Given the description of an element on the screen output the (x, y) to click on. 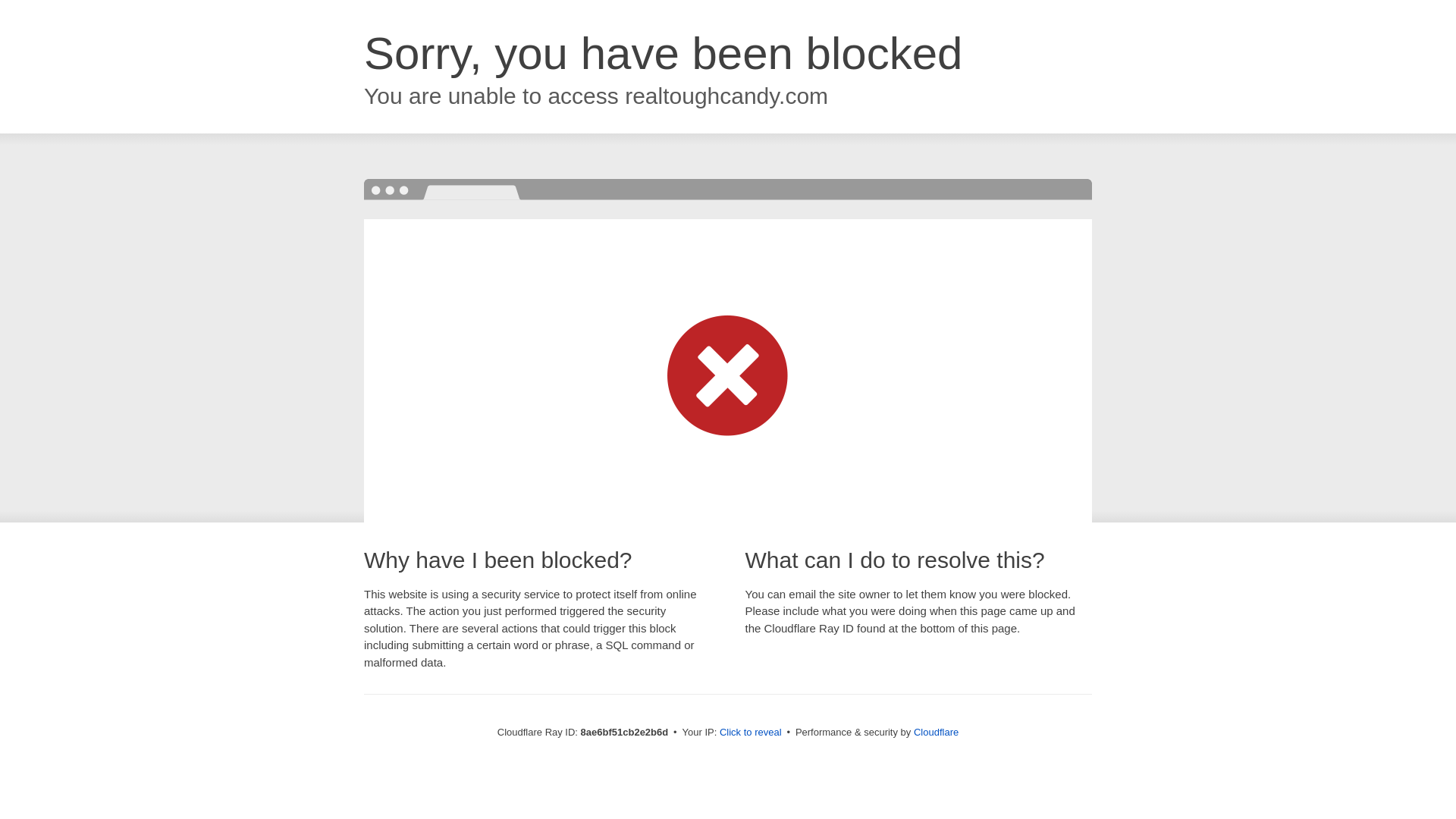
Cloudflare (936, 731)
Click to reveal (750, 732)
